Given the description of an element on the screen output the (x, y) to click on. 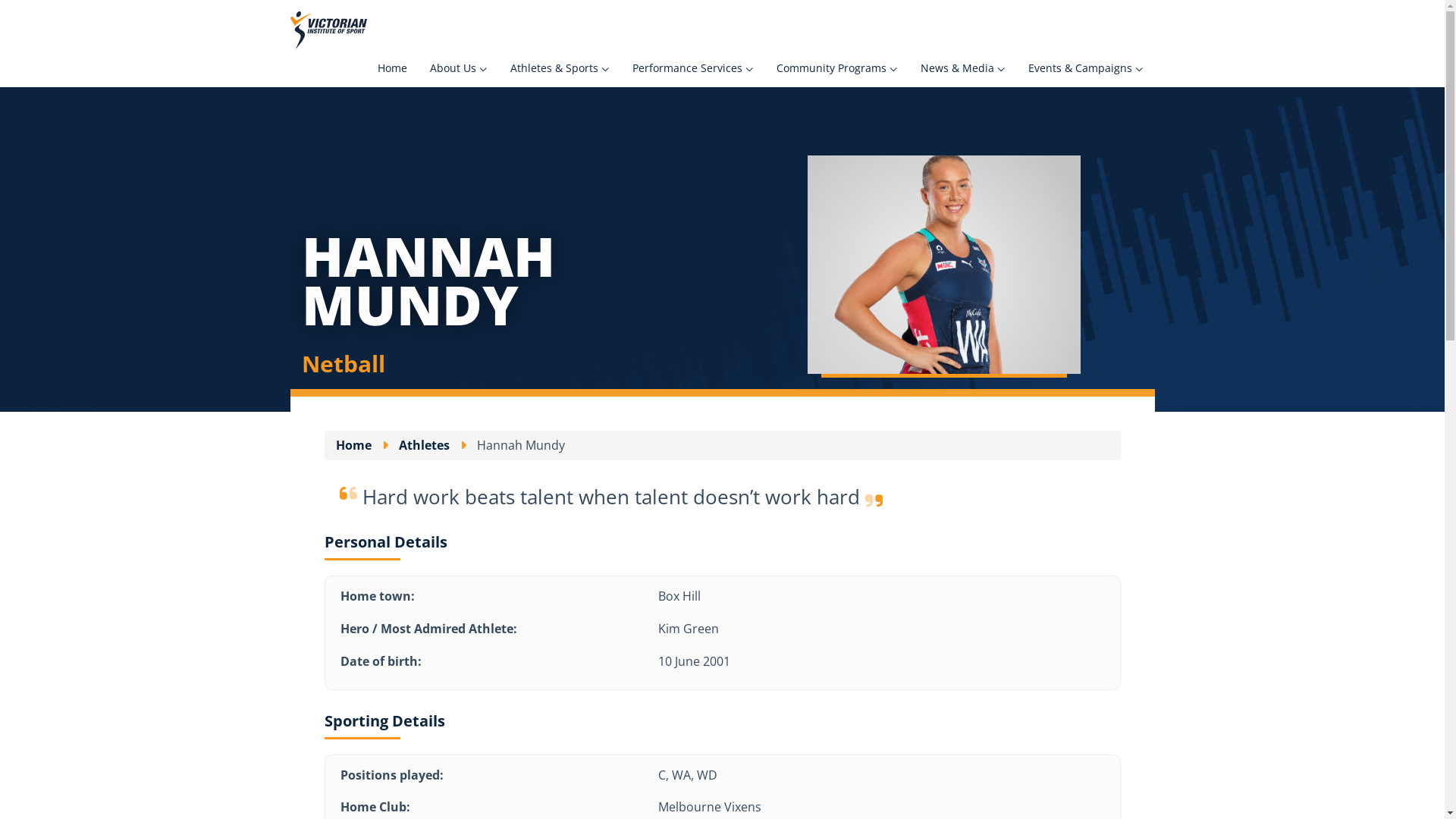
Athletes Element type: text (423, 445)
Home Element type: text (352, 445)
News & Media Element type: text (962, 68)
Home Element type: text (391, 68)
Community Programs Element type: text (836, 68)
Performance Services Element type: text (692, 68)
Events & Campaigns Element type: text (1085, 68)
About Us Element type: text (458, 68)
Athletes & Sports Element type: text (559, 68)
